Given the description of an element on the screen output the (x, y) to click on. 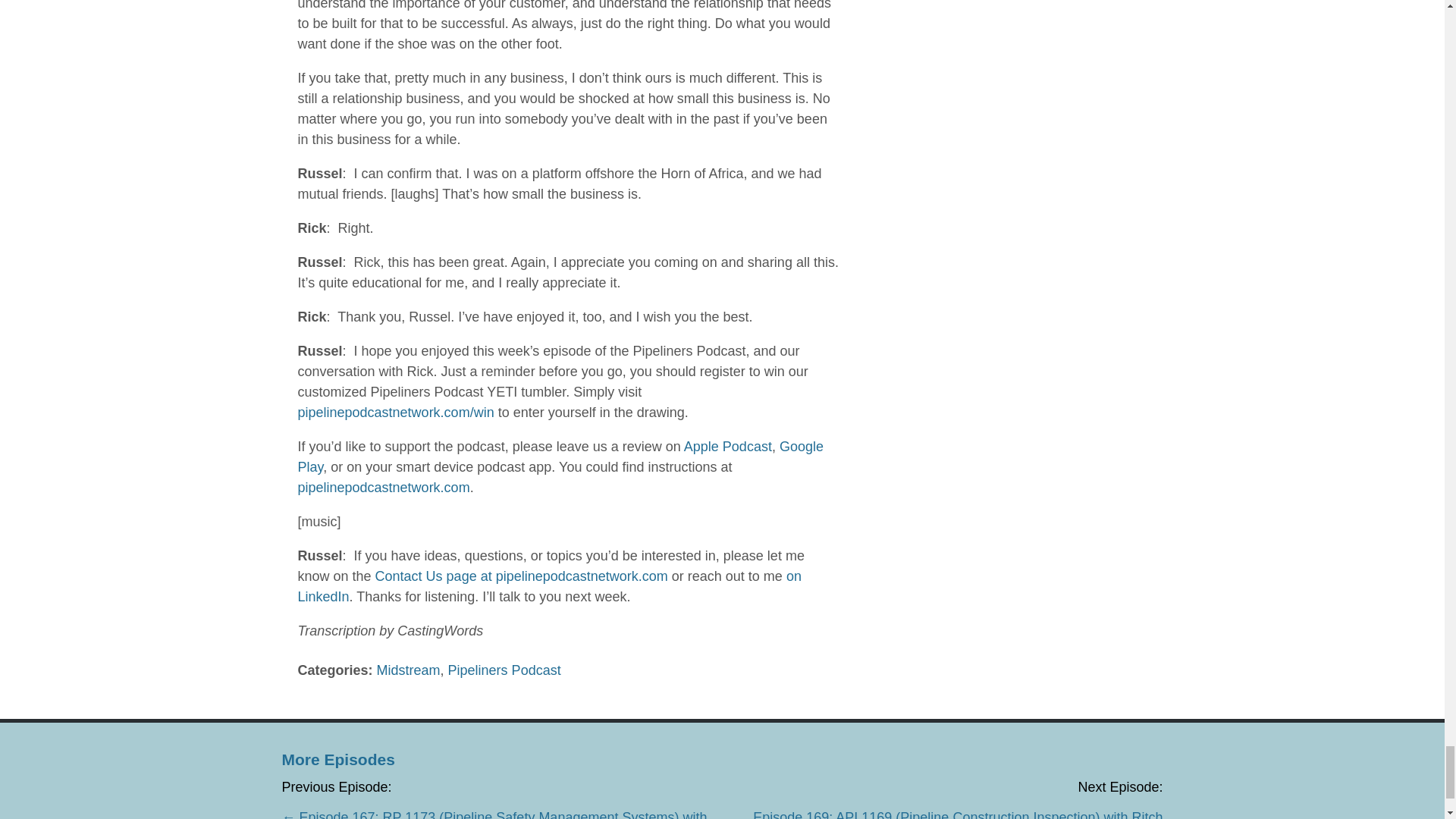
Contact Us page at pipelinepodcastnetwork.com (521, 575)
Google Play (559, 456)
on LinkedIn (548, 586)
Apple Podcast (727, 446)
pipelinepodcastnetwork.com (382, 487)
Midstream (409, 670)
